Given the description of an element on the screen output the (x, y) to click on. 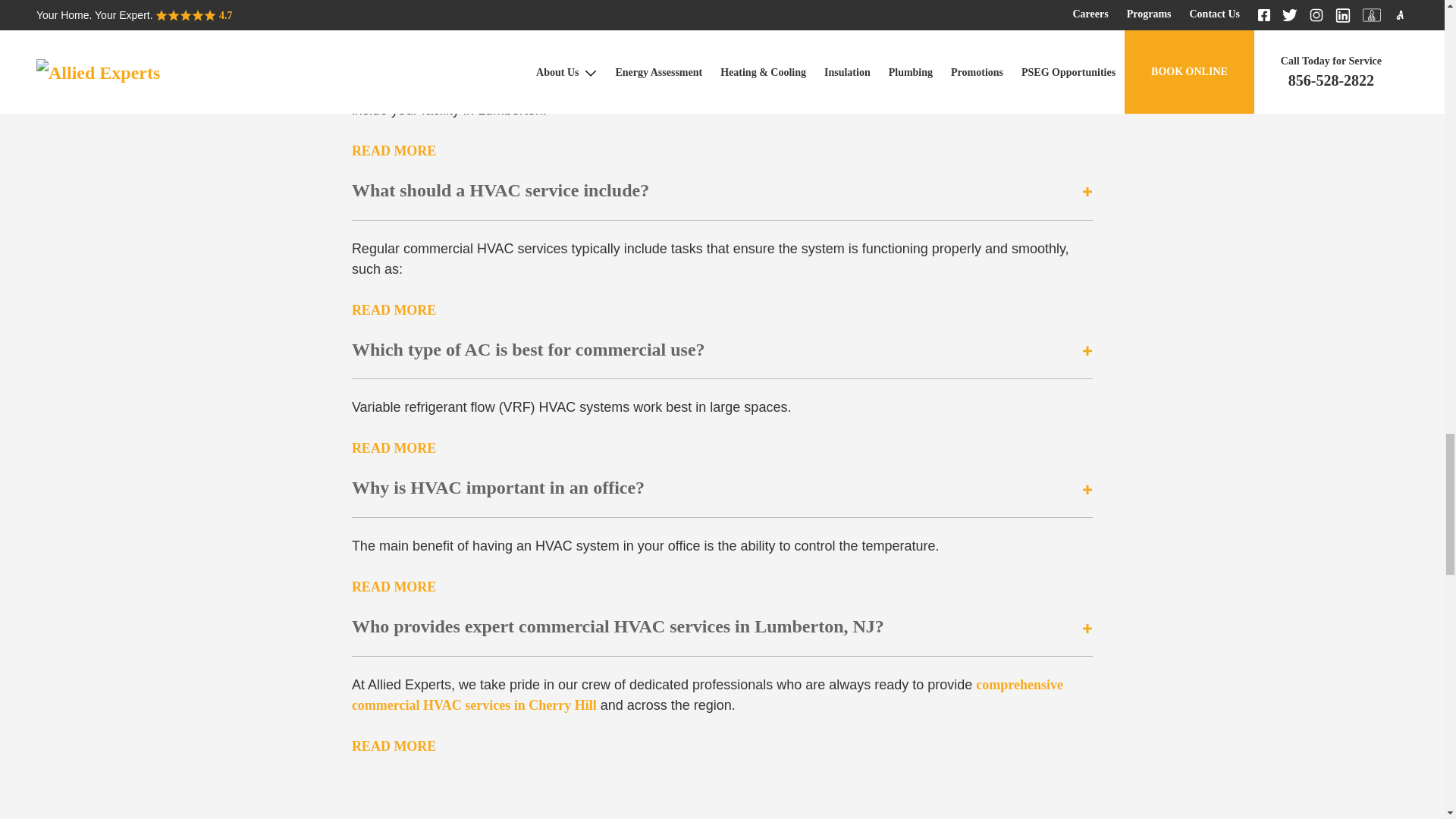
READ MORE (394, 587)
READ MORE (394, 150)
comprehensive commercial HVAC services in Cherry Hill (707, 694)
READ MORE (394, 310)
READ MORE (394, 448)
